Given the description of an element on the screen output the (x, y) to click on. 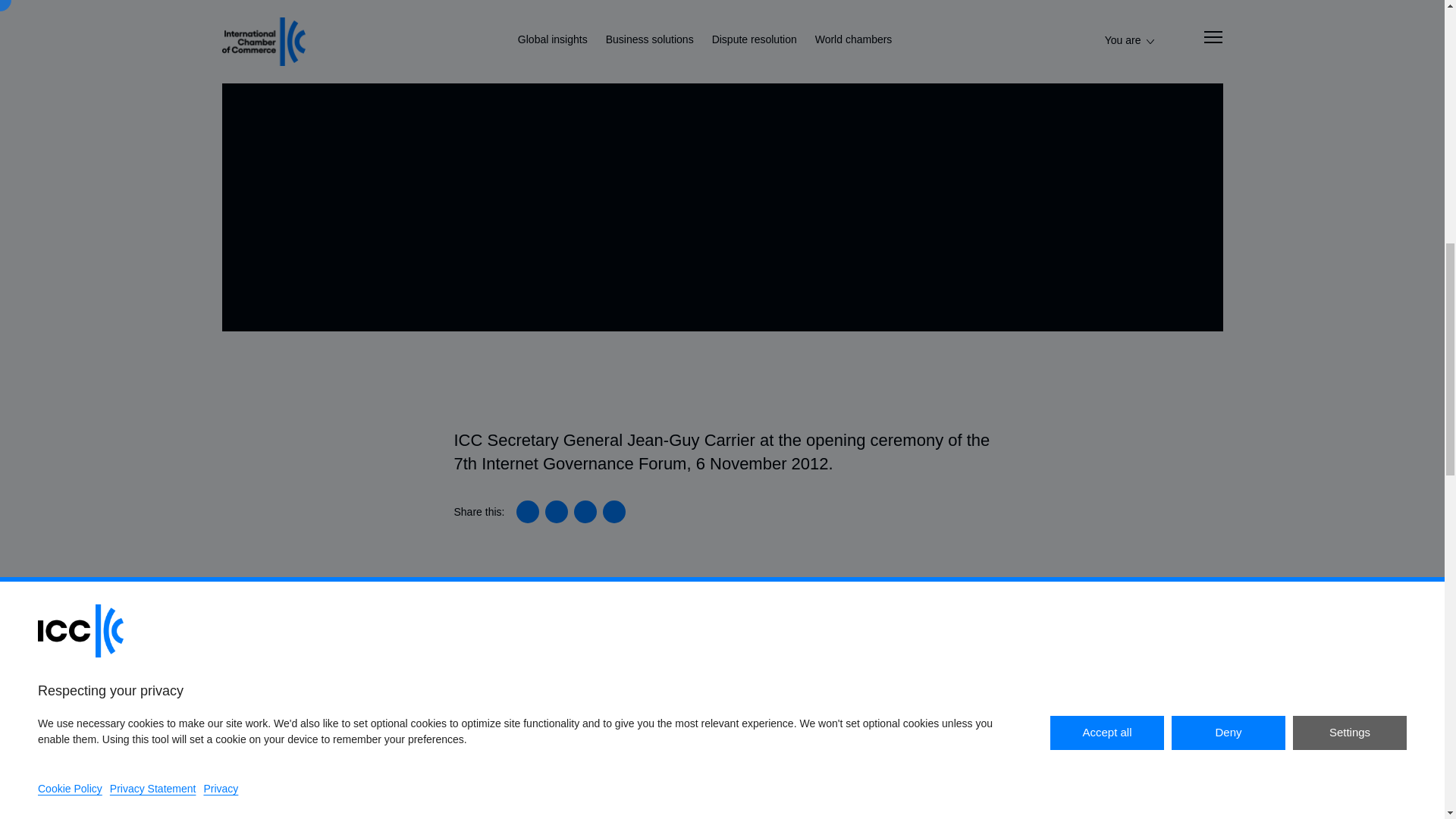
Share on Facebook (584, 511)
Share on X (555, 511)
Share this article with your email software (614, 511)
Share on Linkedin (527, 511)
